Given the description of an element on the screen output the (x, y) to click on. 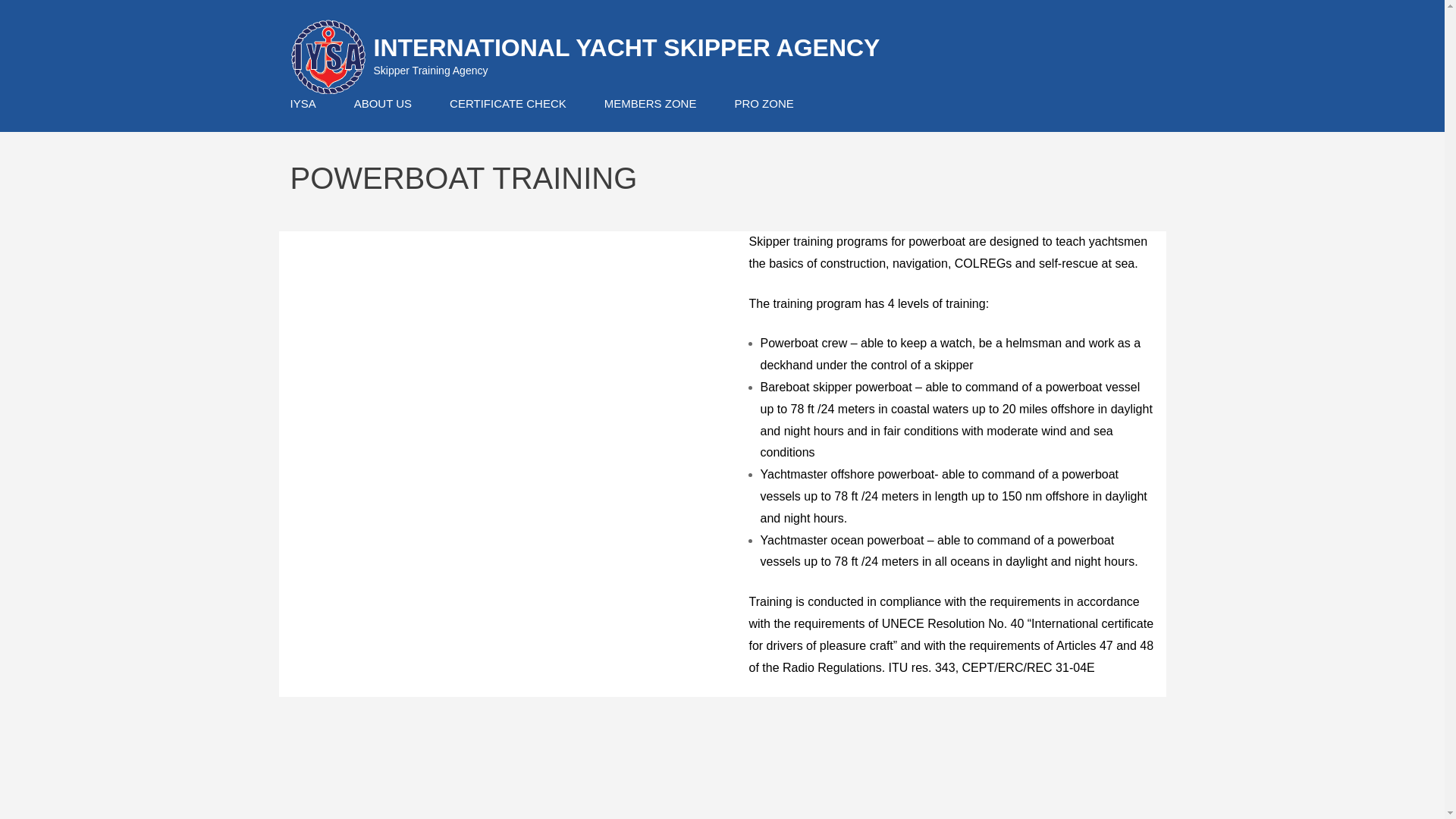
PRO ZONE (763, 103)
CERTIFICATE CHECK (507, 103)
ABOUT US (382, 103)
MEMBERS ZONE (650, 103)
INTERNATIONAL YACHT SKIPPER AGENCY (625, 47)
IYSA (302, 103)
